Given the description of an element on the screen output the (x, y) to click on. 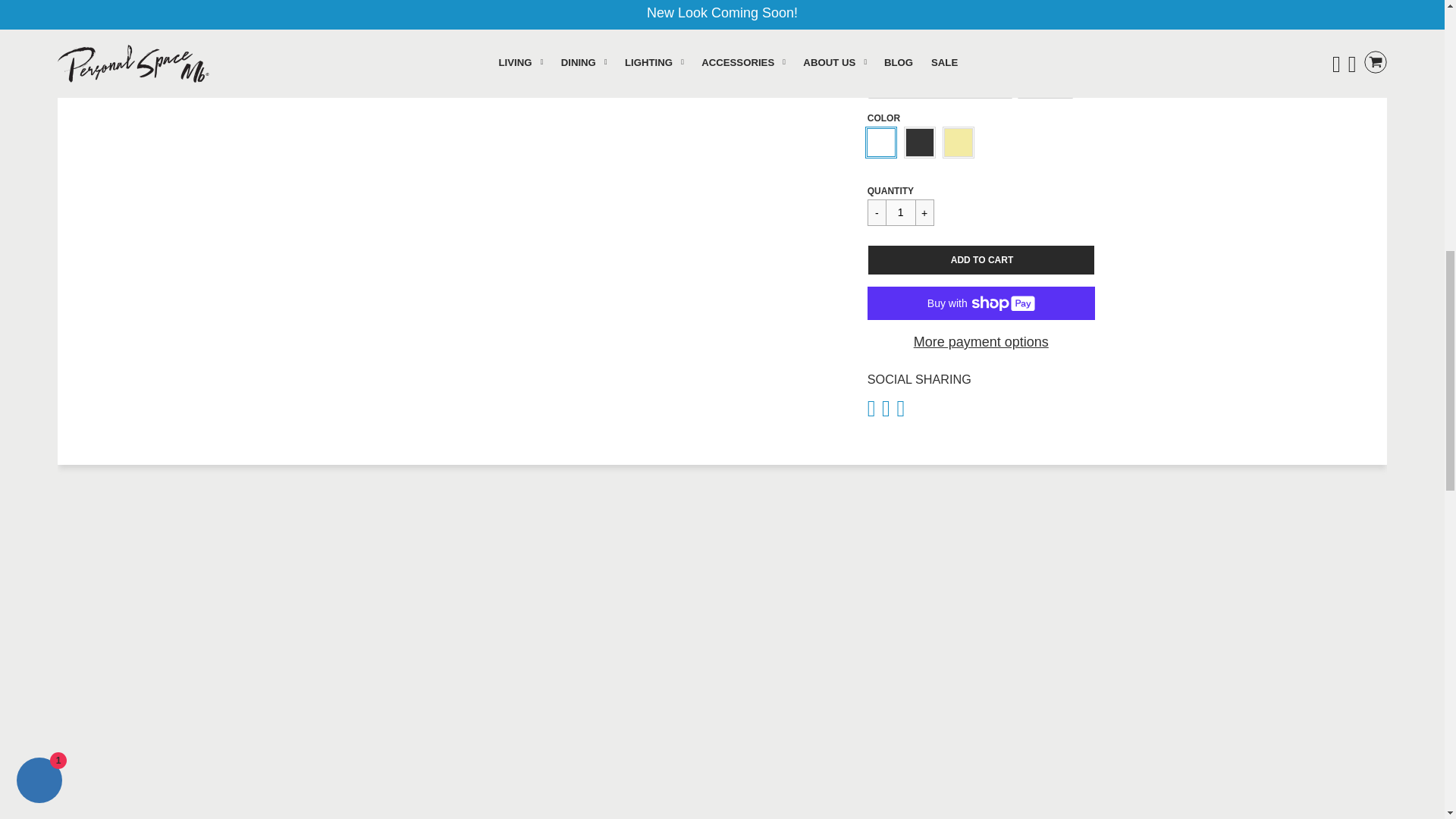
1 (900, 212)
